Given the description of an element on the screen output the (x, y) to click on. 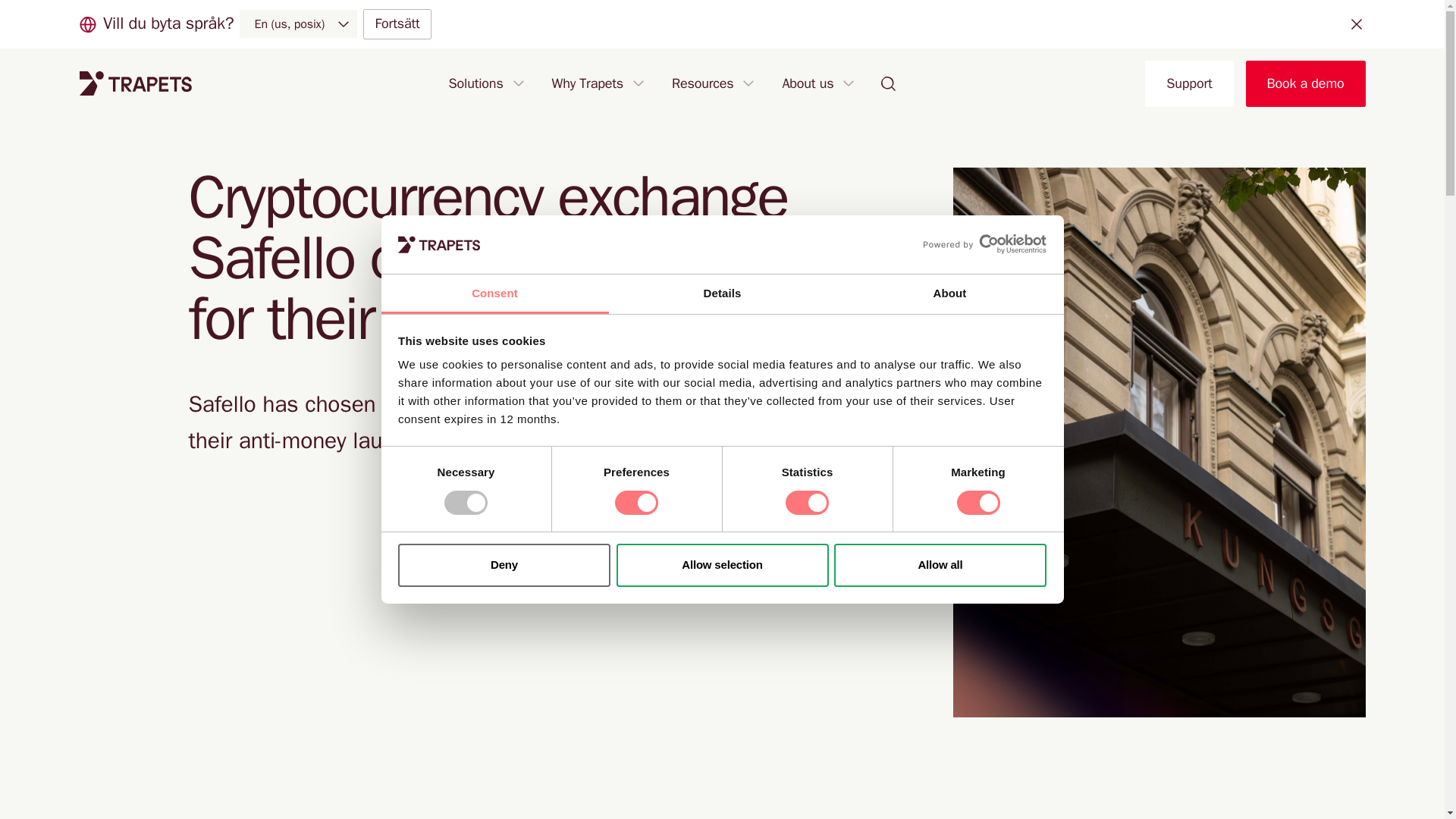
About (948, 294)
Details (721, 294)
Consent (494, 294)
Allow selection (721, 565)
Deny (503, 565)
